Given the description of an element on the screen output the (x, y) to click on. 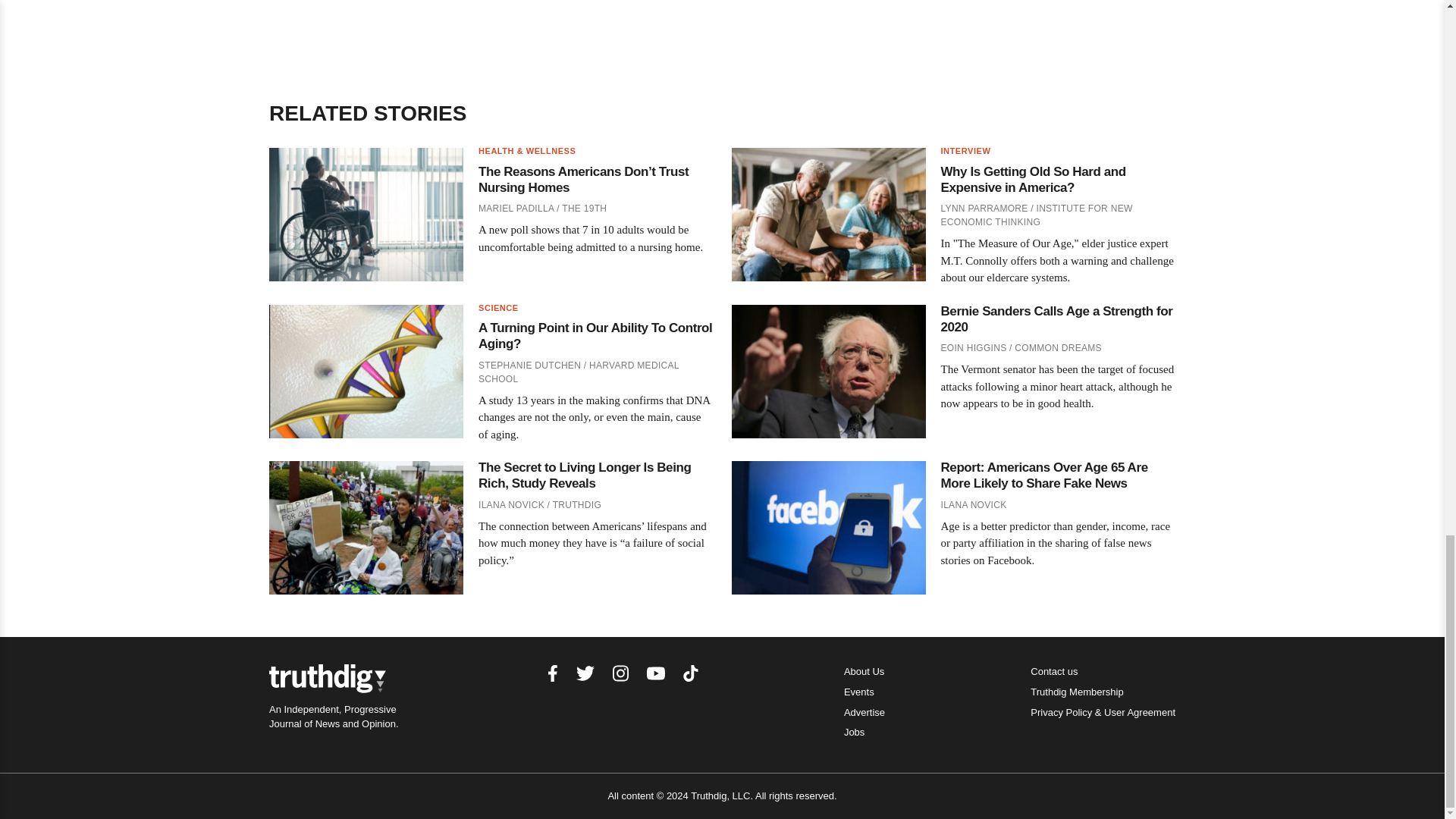
3rd party ad content (722, 18)
